Given the description of an element on the screen output the (x, y) to click on. 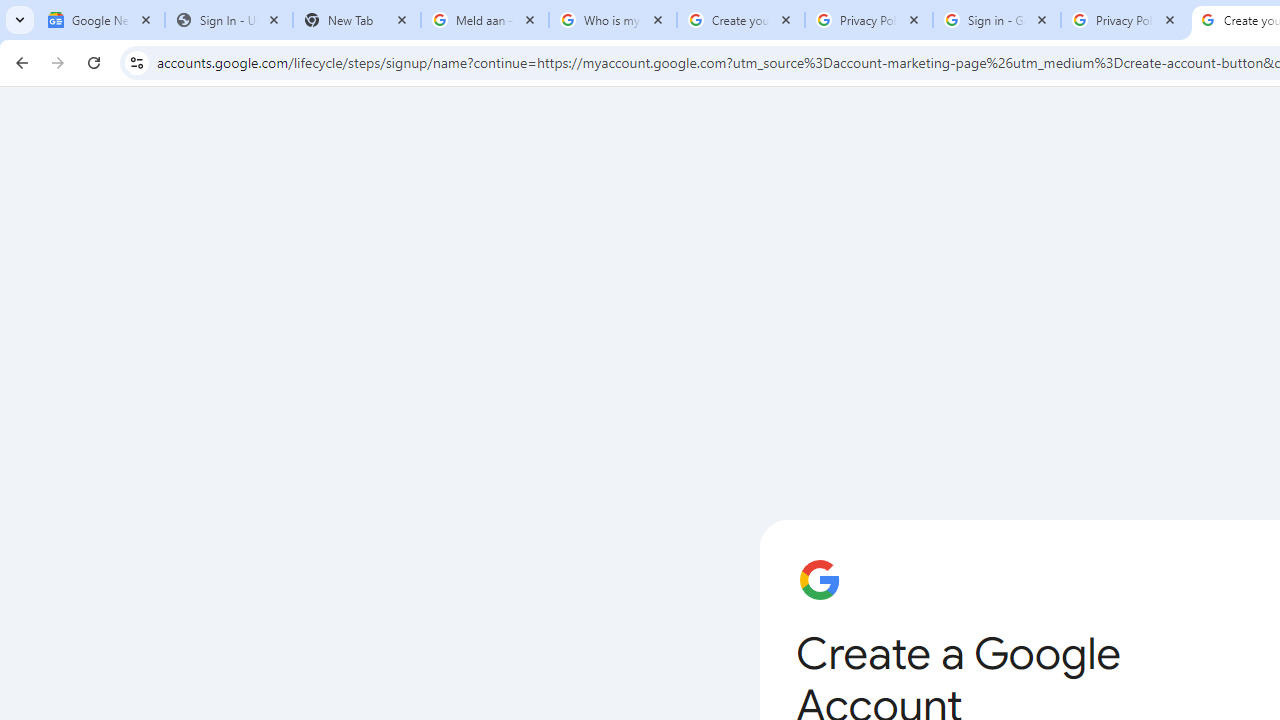
Search tabs (20, 20)
